Given the description of an element on the screen output the (x, y) to click on. 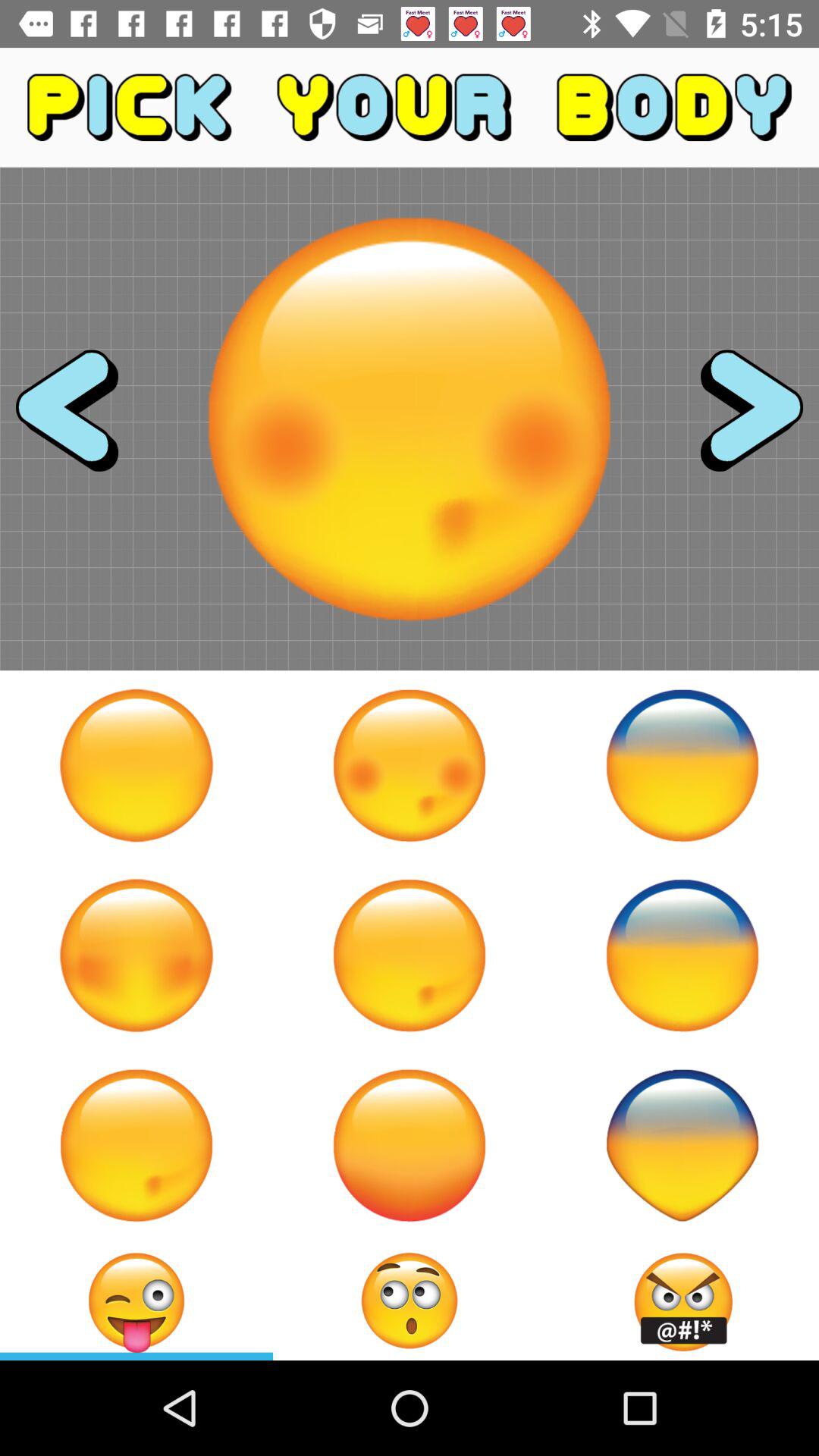
select body (682, 955)
